Given the description of an element on the screen output the (x, y) to click on. 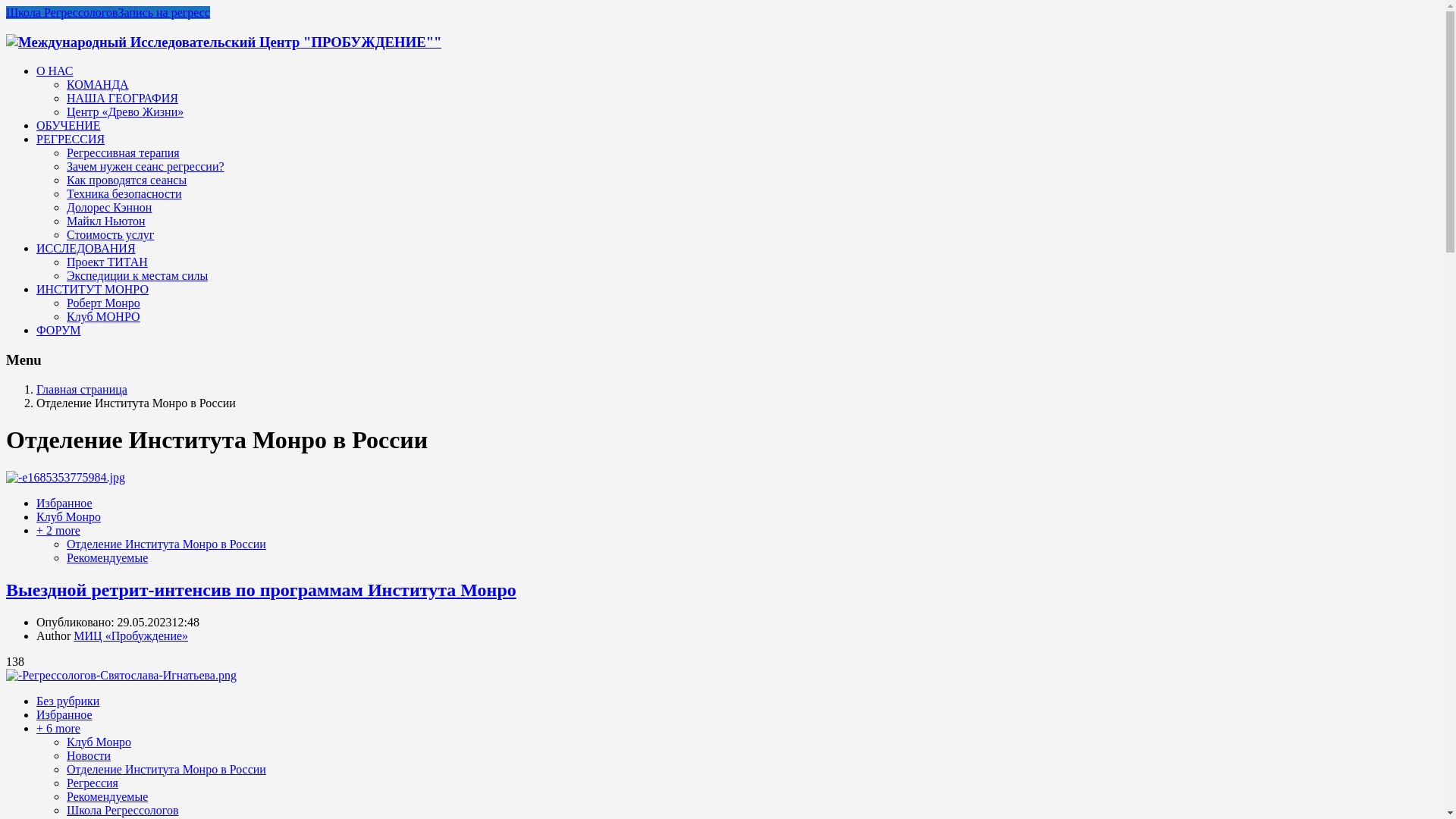
+ 6 more Element type: text (58, 727)
+ 2 more Element type: text (58, 530)
